Given the description of an element on the screen output the (x, y) to click on. 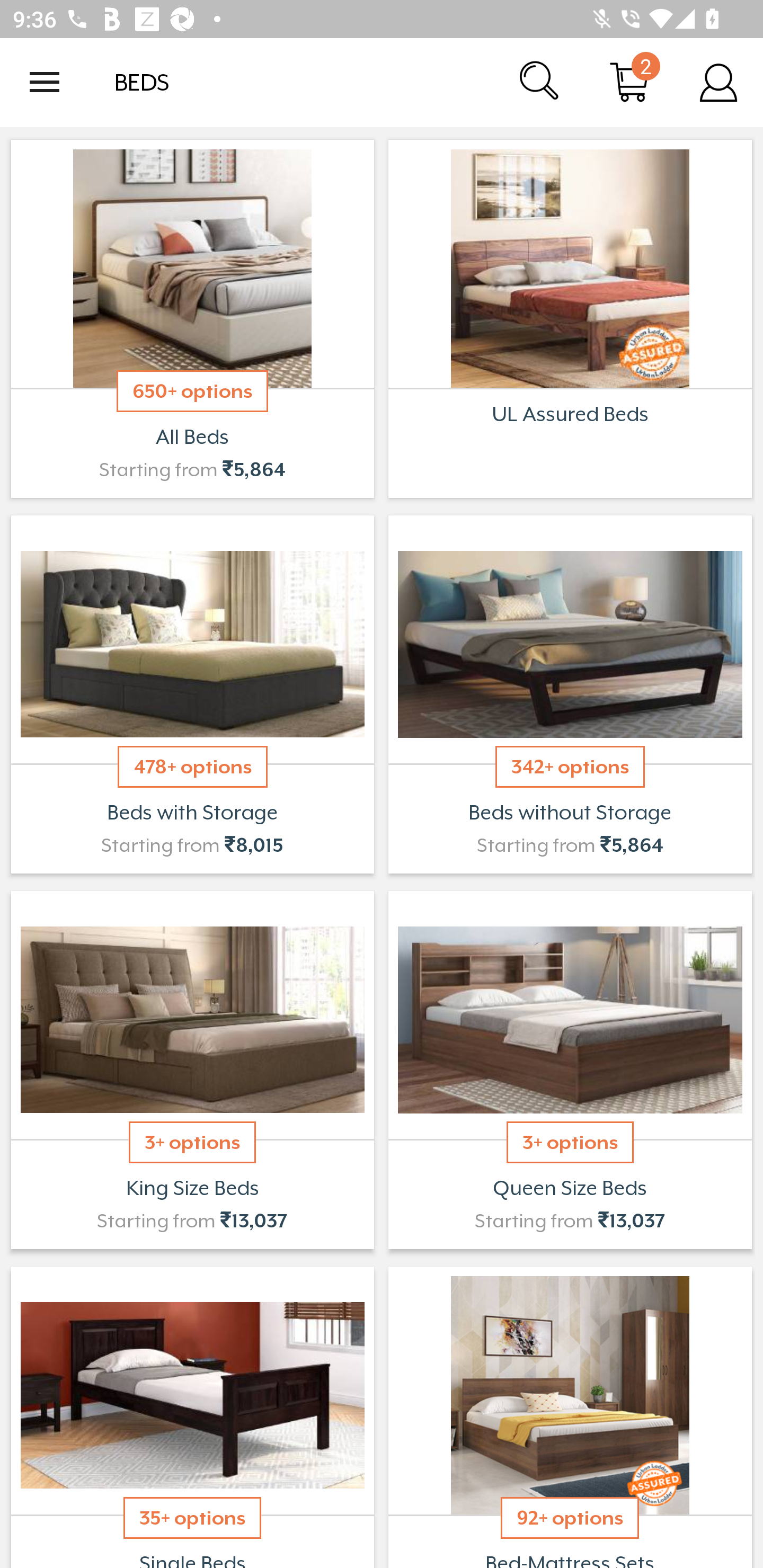
Open navigation drawer (44, 82)
Search (540, 81)
Cart (629, 81)
Account Details (718, 81)
650+ options All Beds Starting from  ₹5,864 (191, 318)
UL Assured Beds (570, 318)
3+ options King Size Beds Starting from  ₹13,037 (191, 1069)
3+ options Queen Size Beds Starting from  ₹13,037 (570, 1069)
35+ options Single Beds (191, 1415)
92+ options Bed-Mattress Sets (570, 1415)
